Given the description of an element on the screen output the (x, y) to click on. 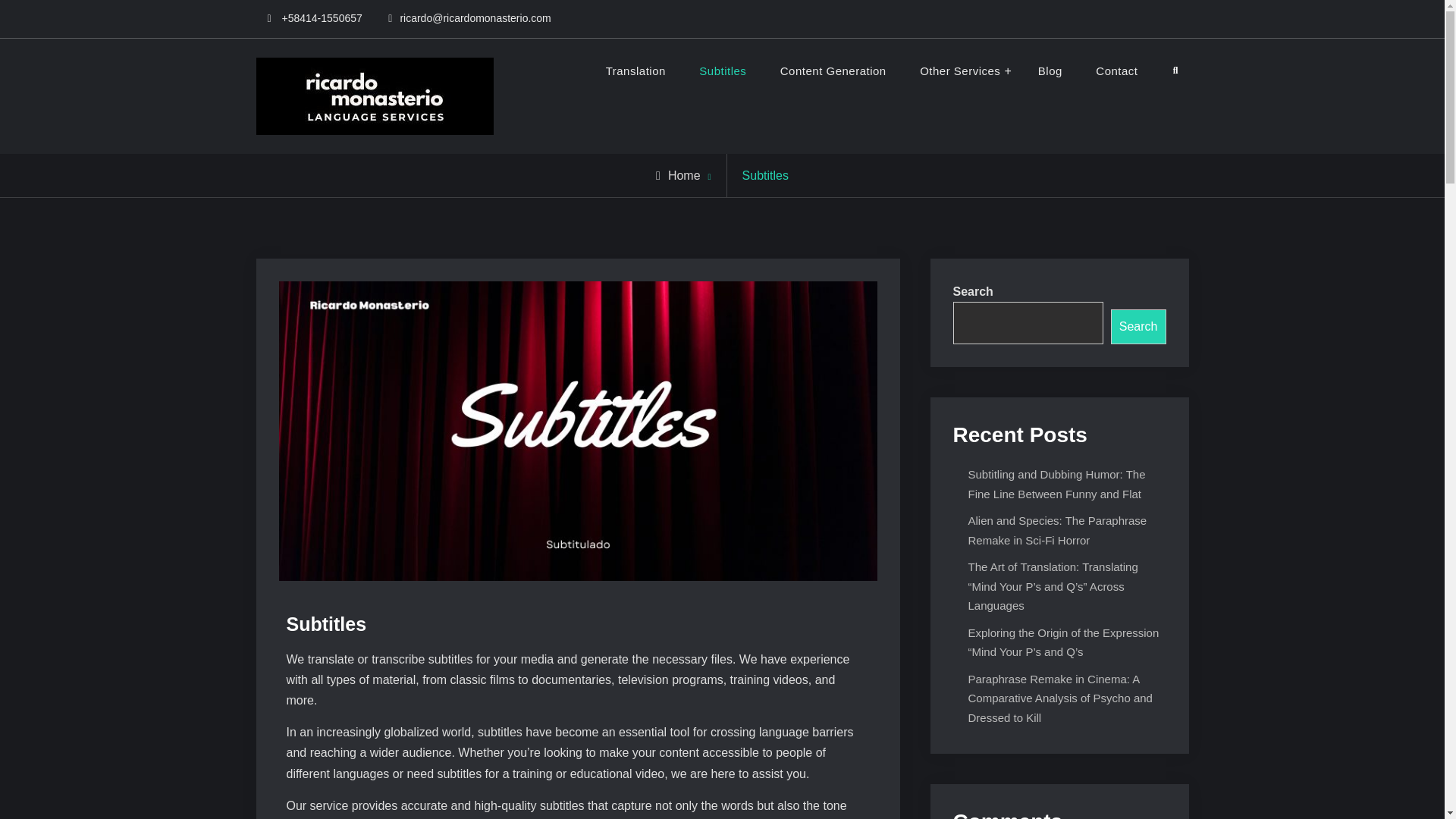
Subtitles (722, 71)
Blog (1050, 71)
Content Generation (833, 71)
Ricardo Monasterio (596, 80)
Search (1174, 70)
Home (678, 174)
Translation (636, 71)
Search (1138, 326)
